Given the description of an element on the screen output the (x, y) to click on. 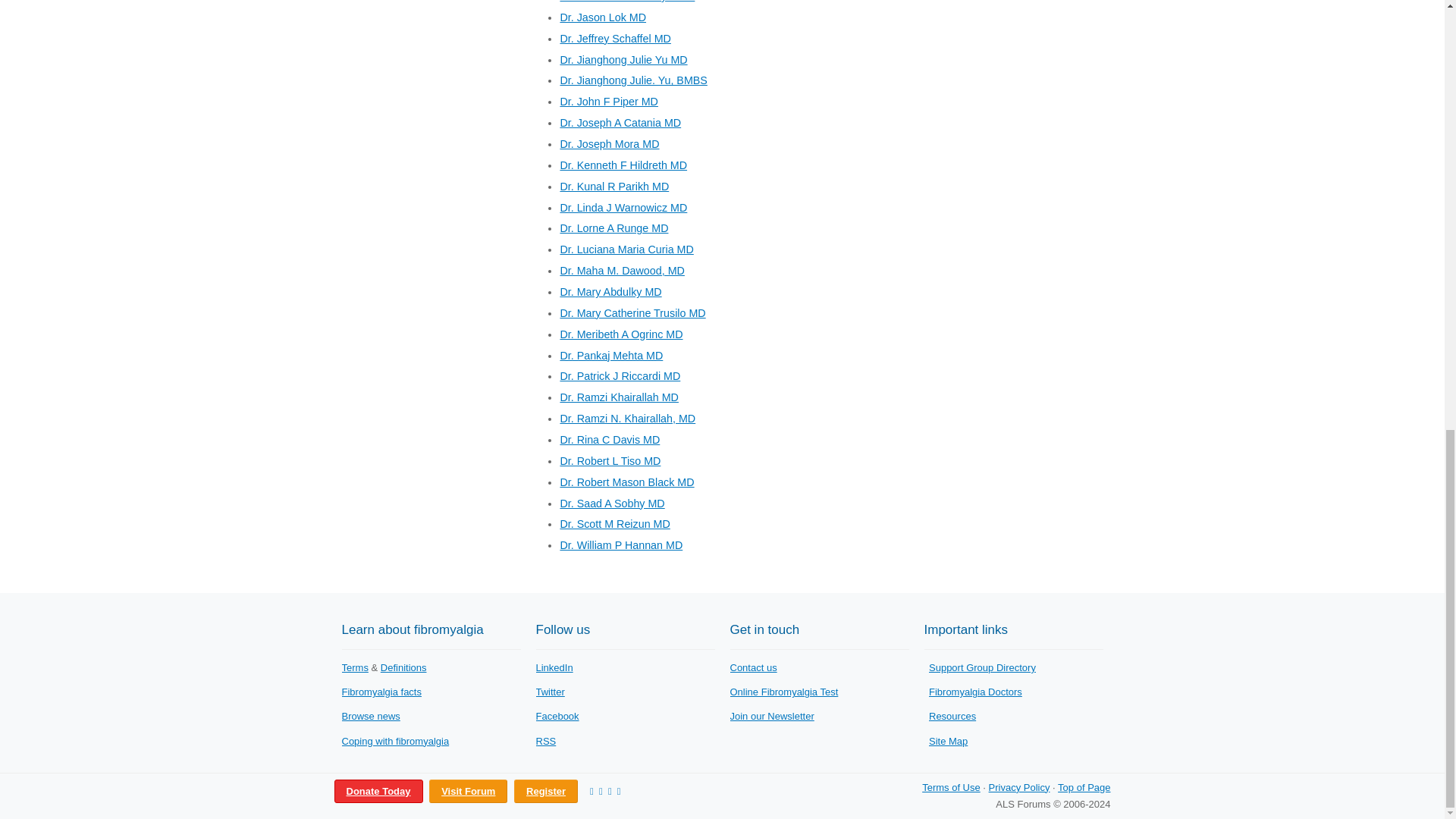
Browse our news (369, 715)
Facts about Fibromyalgia (380, 691)
Coping with fibromyalgia (394, 740)
Term listing (354, 667)
Definition listing (403, 667)
